Given the description of an element on the screen output the (x, y) to click on. 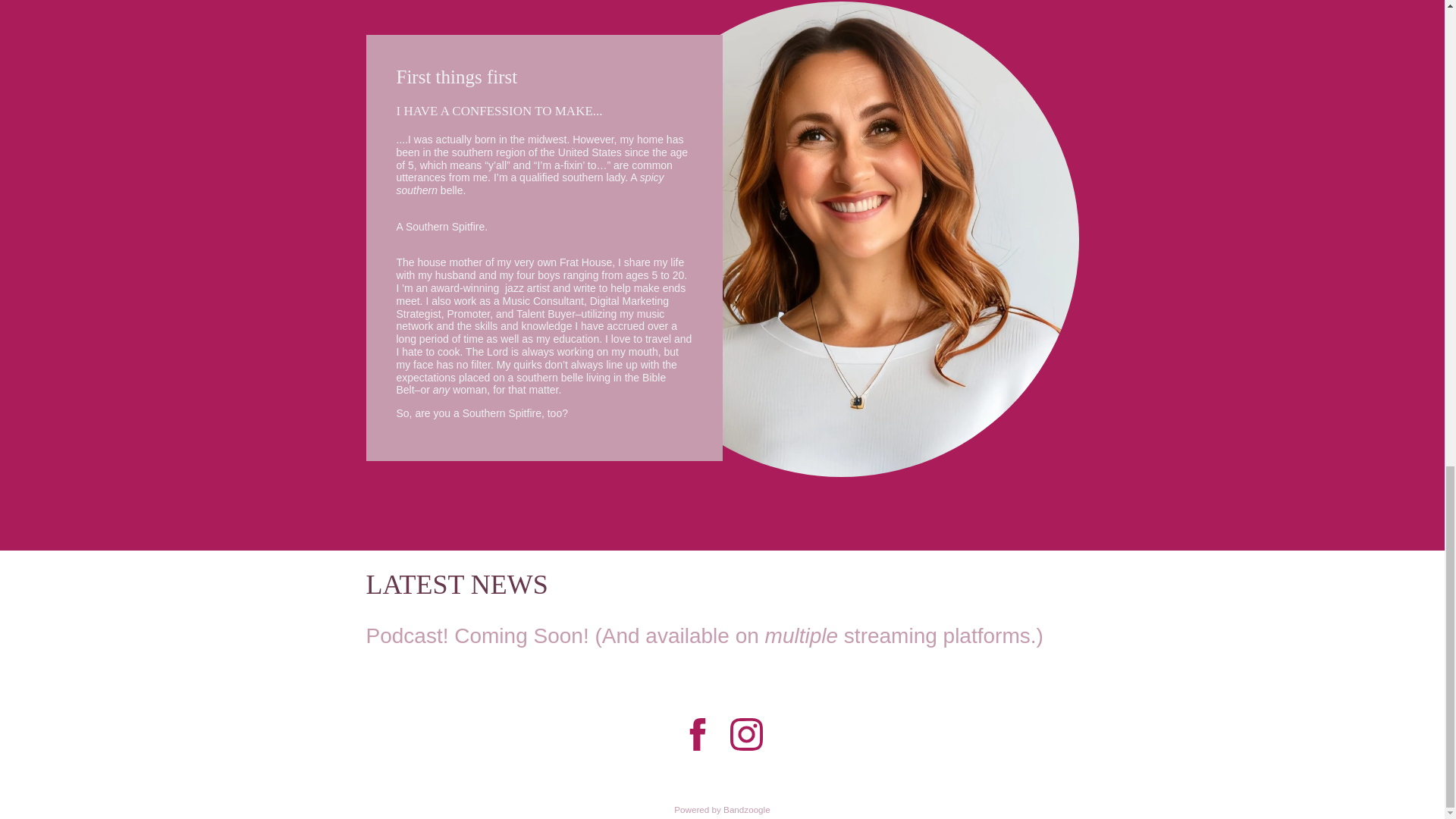
Powered by Bandzoogle (722, 809)
Powered by Bandzoogle (722, 809)
